Given the description of an element on the screen output the (x, y) to click on. 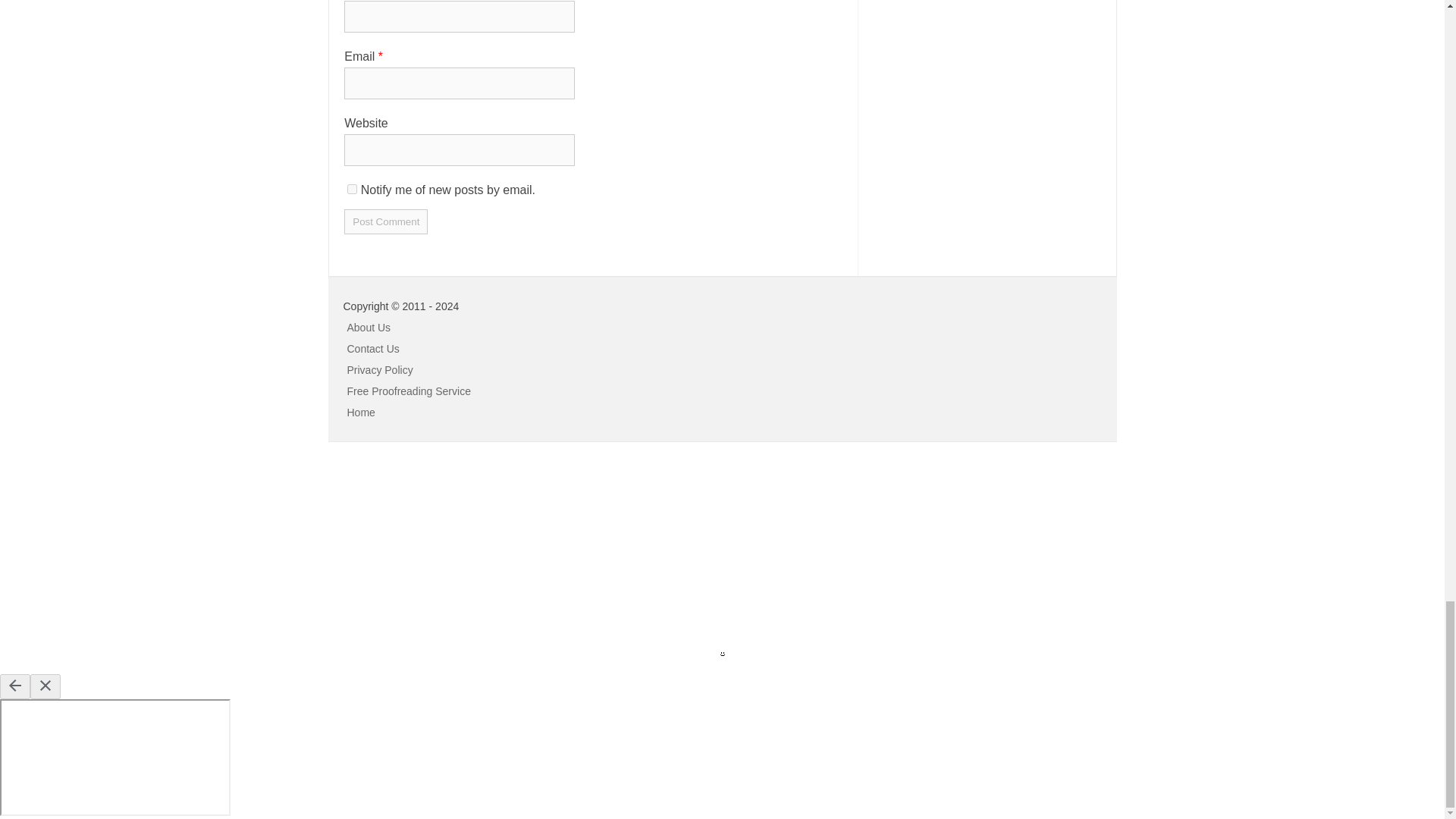
Free Proofreading Service (408, 390)
About Us (369, 326)
Post Comment (385, 220)
subscribe (351, 189)
Home (361, 411)
Advertisement (113, 555)
Privacy Policy (380, 369)
Post Comment (385, 220)
Contact Us (372, 347)
